Given the description of an element on the screen output the (x, y) to click on. 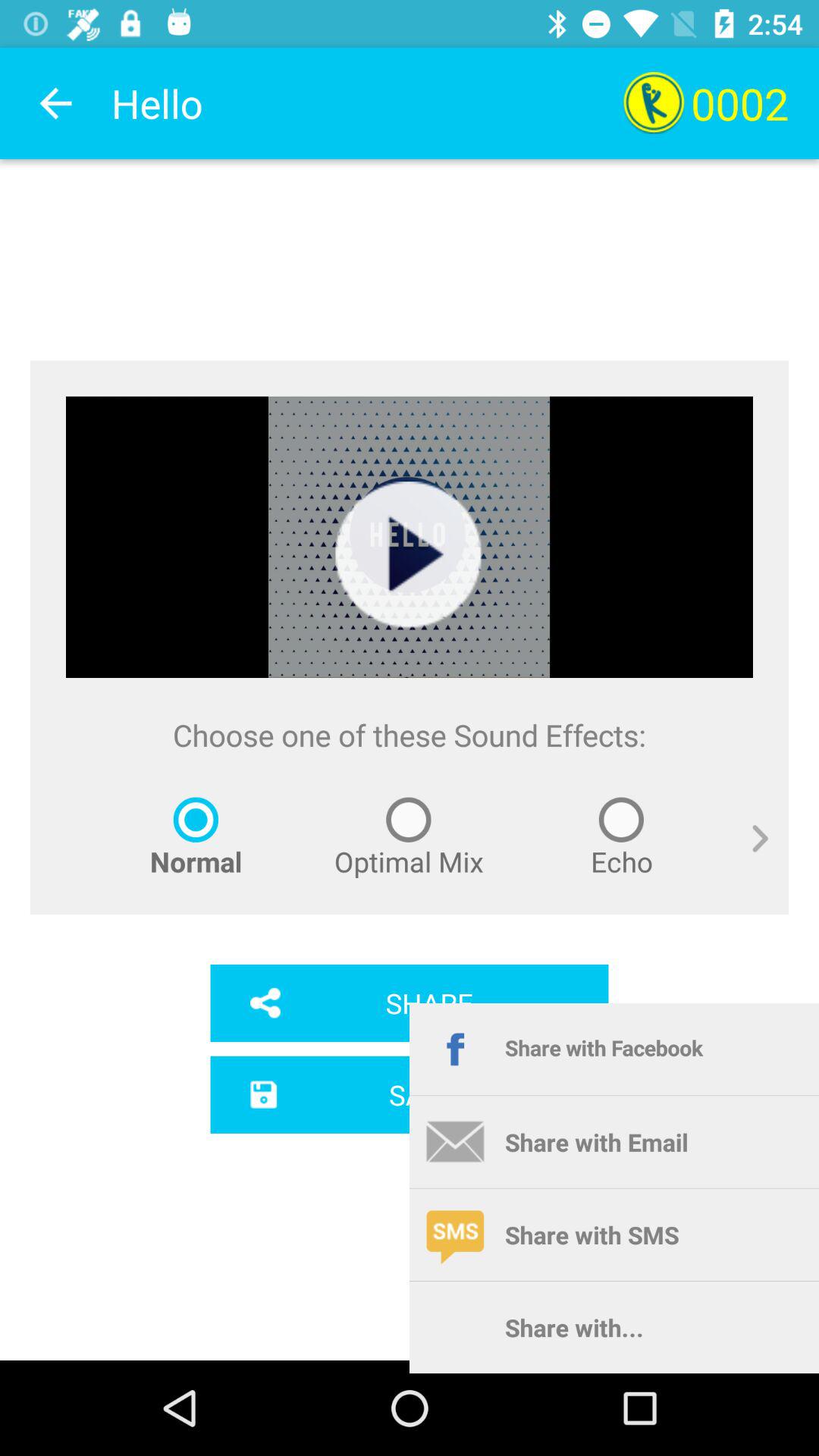
press icon below the choose one of item (748, 855)
